Given the description of an element on the screen output the (x, y) to click on. 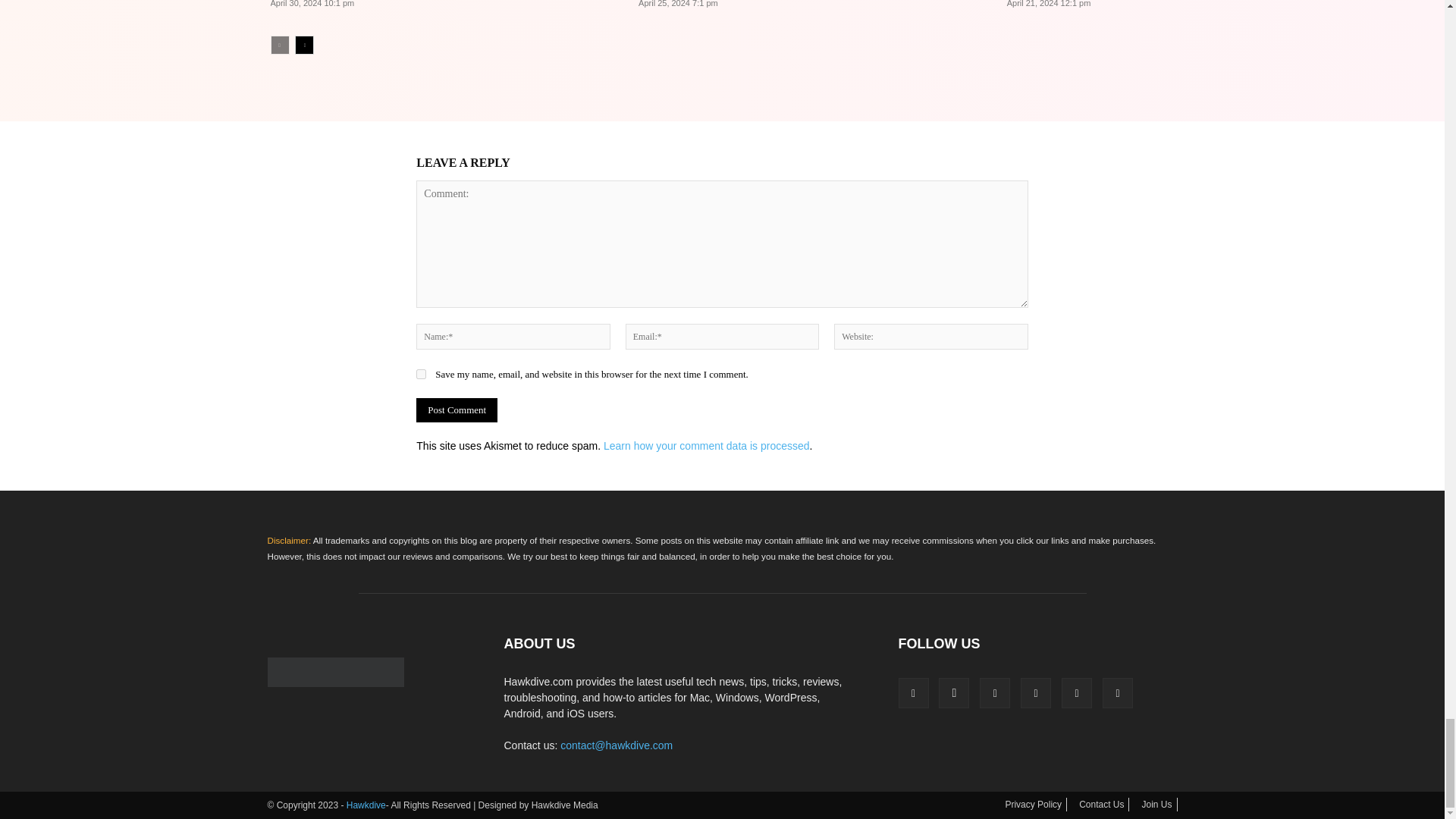
Post Comment (456, 410)
yes (421, 374)
